Given the description of an element on the screen output the (x, y) to click on. 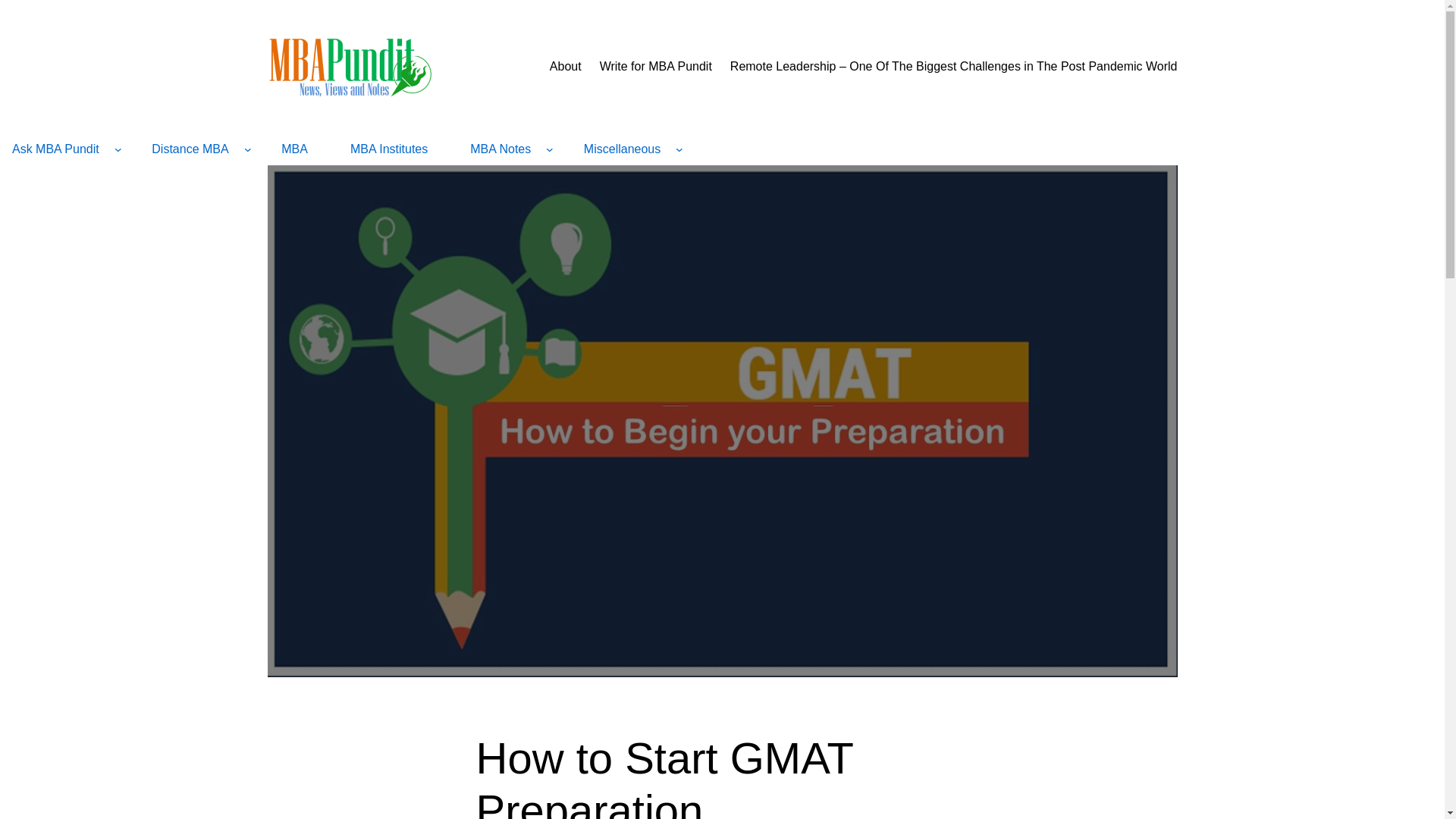
About (565, 66)
MBA Pundit (348, 66)
MBA (294, 149)
MBA Institutes (388, 149)
Miscellaneous (622, 149)
MBA Notes (500, 149)
Distance MBA (189, 149)
Write for MBA Pundit (655, 66)
Ask MBA Pundit (56, 149)
